Given the description of an element on the screen output the (x, y) to click on. 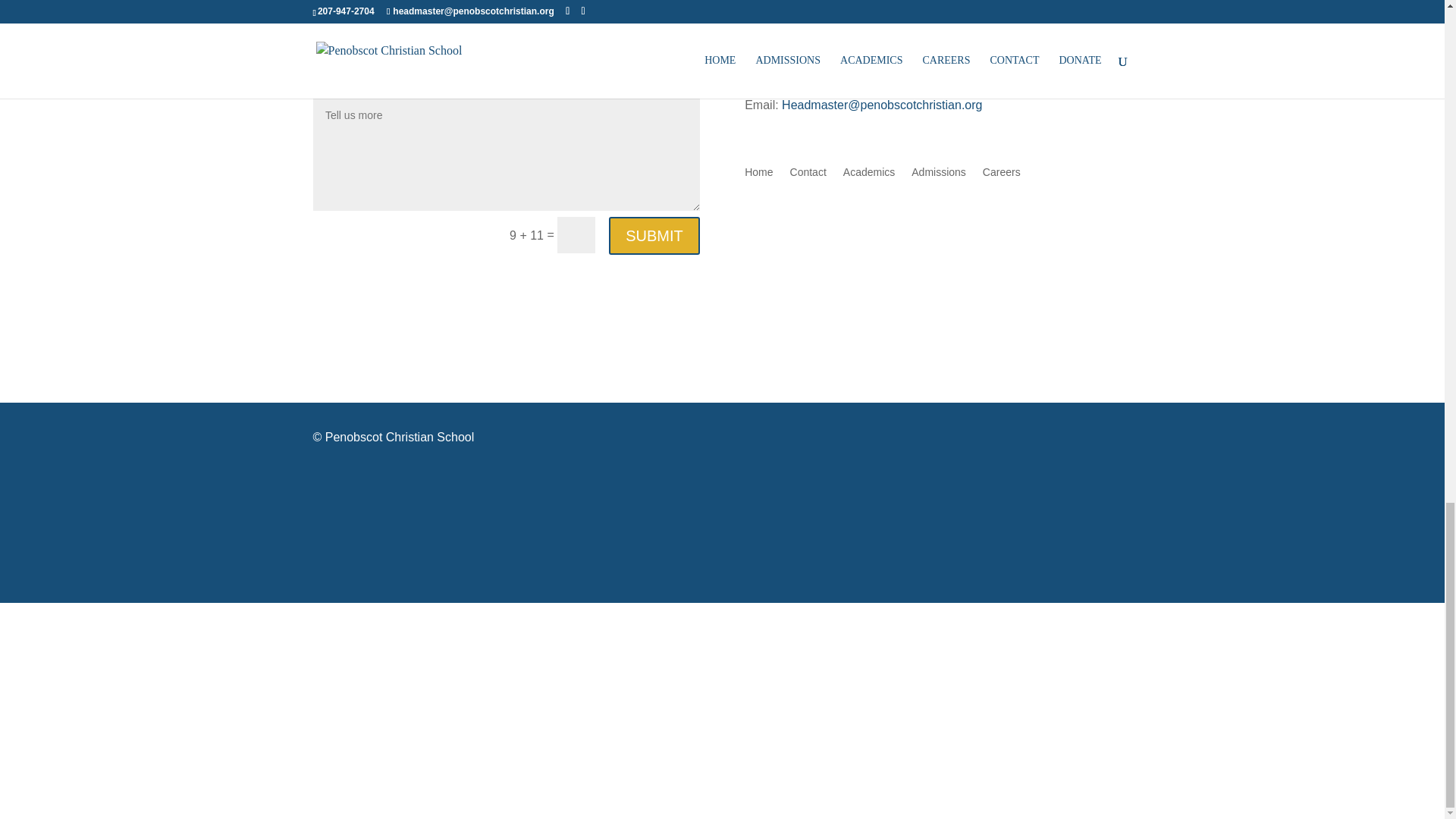
SUBMIT (654, 235)
Home (758, 175)
Careers (1001, 175)
Contact (808, 175)
Academics (869, 175)
Admissions (938, 175)
